Given the description of an element on the screen output the (x, y) to click on. 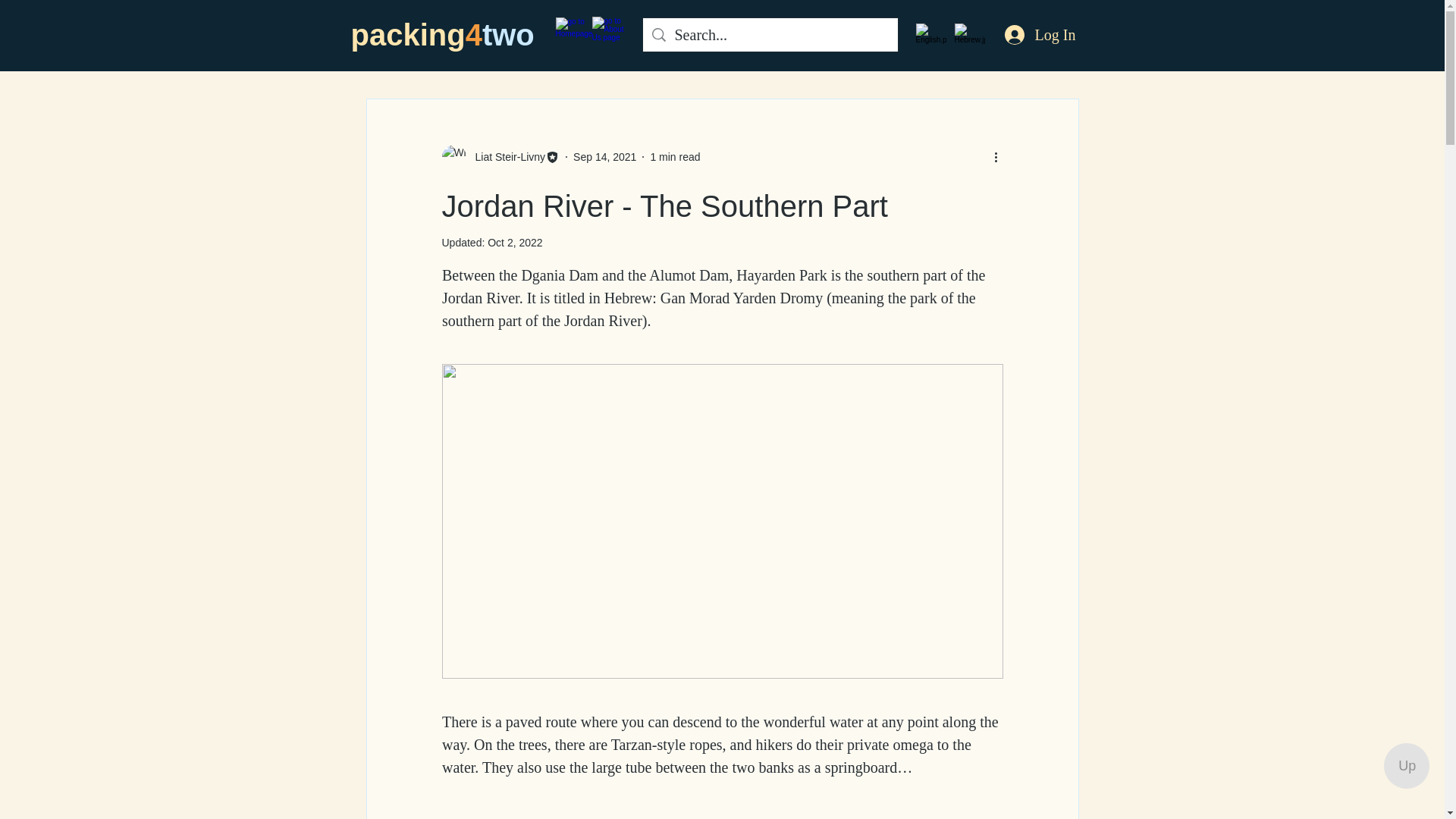
two (507, 34)
Sep 14, 2021 (604, 155)
Oct 2, 2022 (514, 242)
Up (1406, 765)
packing (407, 34)
1 min read (674, 155)
Liat Steir-Livny (504, 156)
Liat Steir-Livny (500, 156)
Log In (1038, 34)
